Given the description of an element on the screen output the (x, y) to click on. 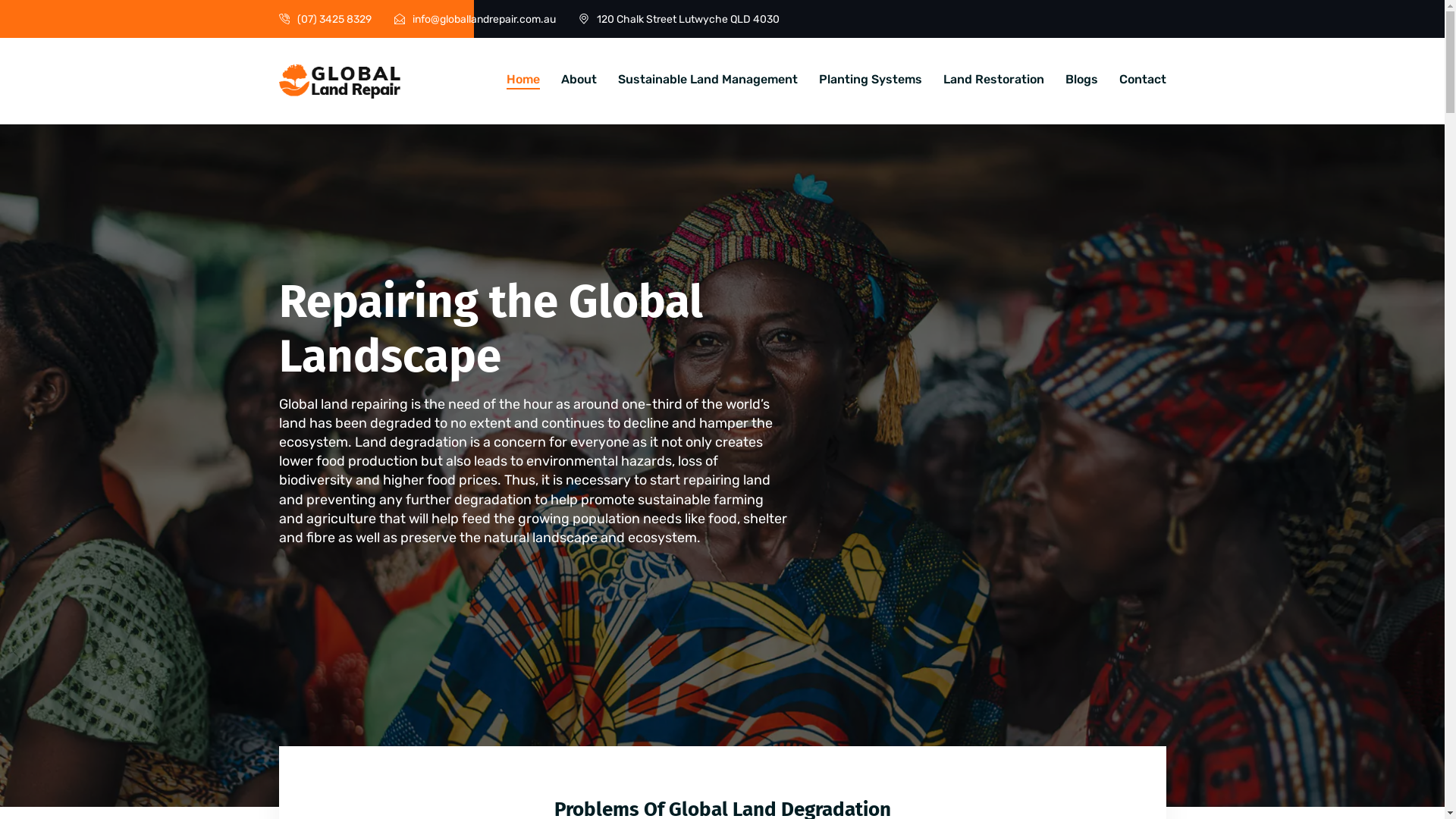
Land Restoration Element type: text (993, 79)
Blogs Element type: text (1080, 79)
Home Element type: text (522, 79)
Sustainable Land Management Element type: text (707, 79)
About Element type: text (578, 79)
Contact Element type: text (1142, 79)
info@globallandrepair.com.au Element type: text (483, 18)
Planting Systems Element type: text (870, 79)
(07) 3425 8329 Element type: text (334, 18)
